Given the description of an element on the screen output the (x, y) to click on. 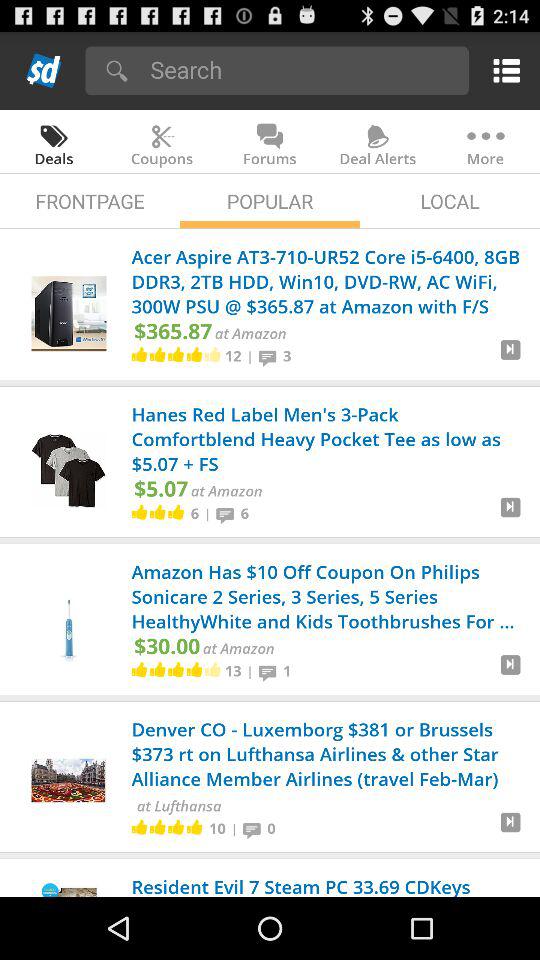
go to product (510, 830)
